Given the description of an element on the screen output the (x, y) to click on. 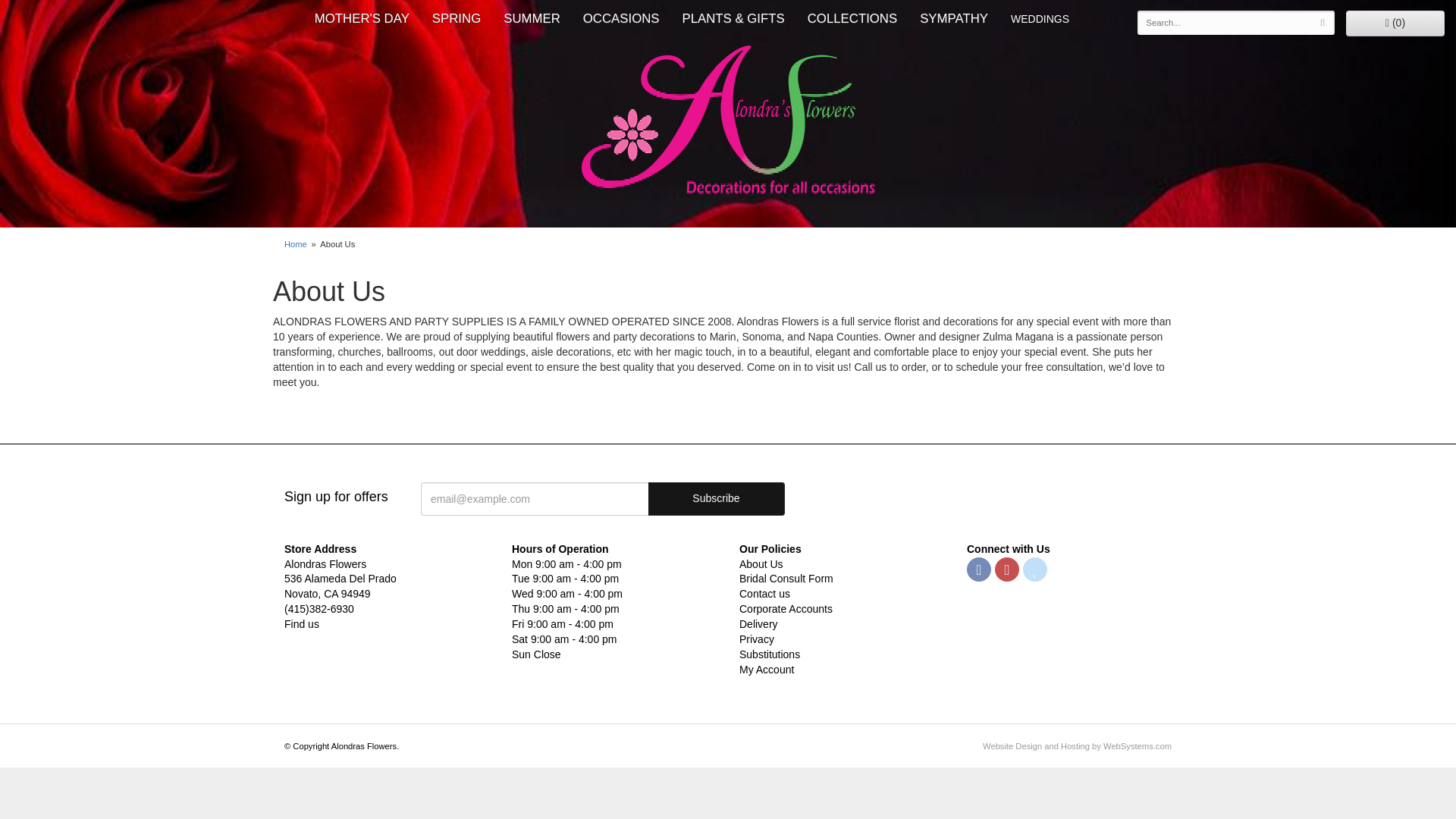
WEDDINGS (1039, 18)
SPRING (456, 18)
SYMPATHY (953, 18)
Home (295, 243)
Alondras Flowers (727, 121)
Subscribe (715, 498)
SUMMER (532, 18)
MOTHER'S DAY (361, 18)
OCCASIONS (621, 18)
COLLECTIONS (852, 18)
